Given the description of an element on the screen output the (x, y) to click on. 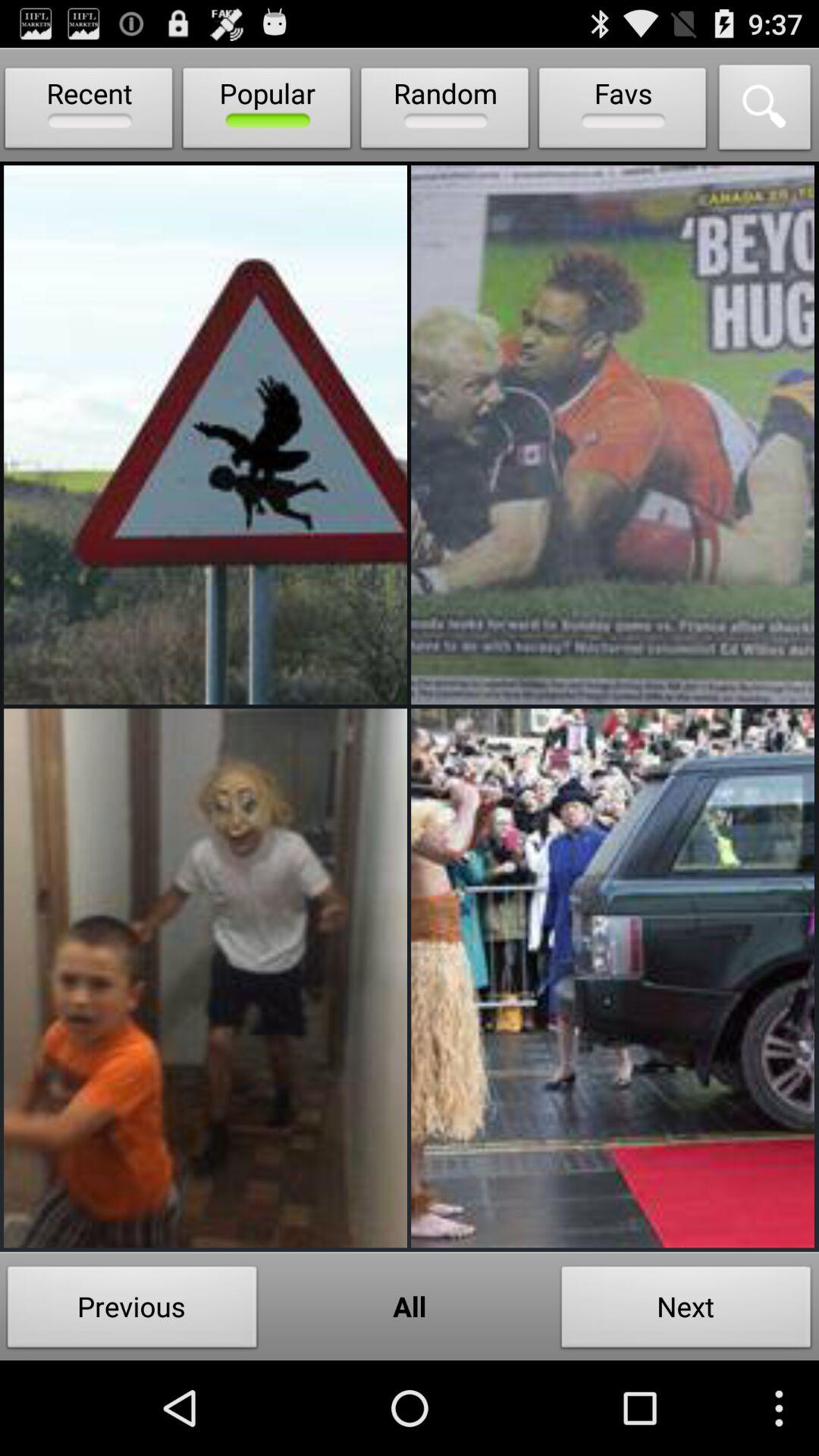
select the icon next to the random item (622, 111)
